Given the description of an element on the screen output the (x, y) to click on. 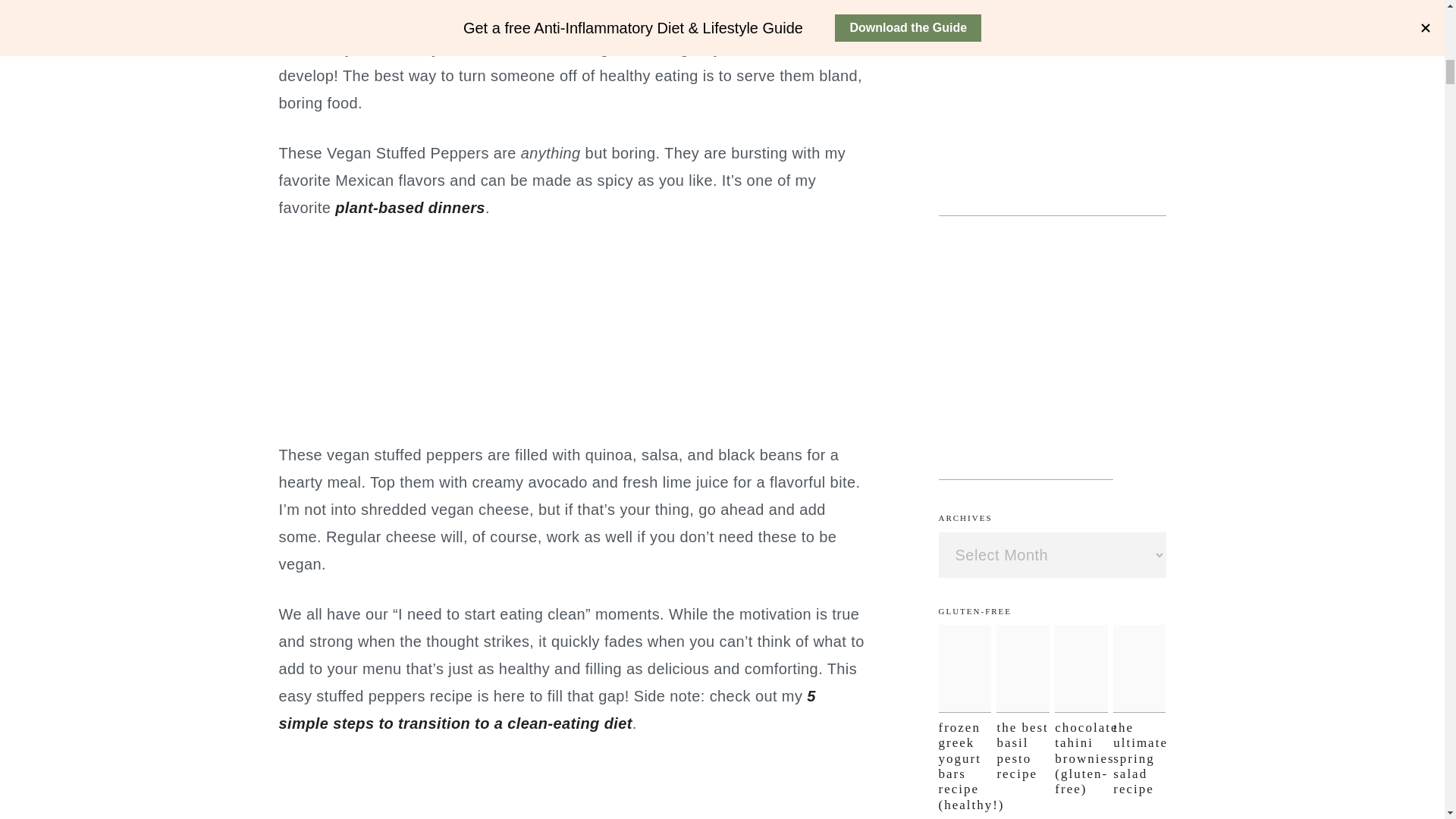
plant-based dinners (409, 207)
The BEST Basil Pesto Recipe (1021, 668)
5 simple steps to transition to a clean-eating diet (547, 709)
